Given the description of an element on the screen output the (x, y) to click on. 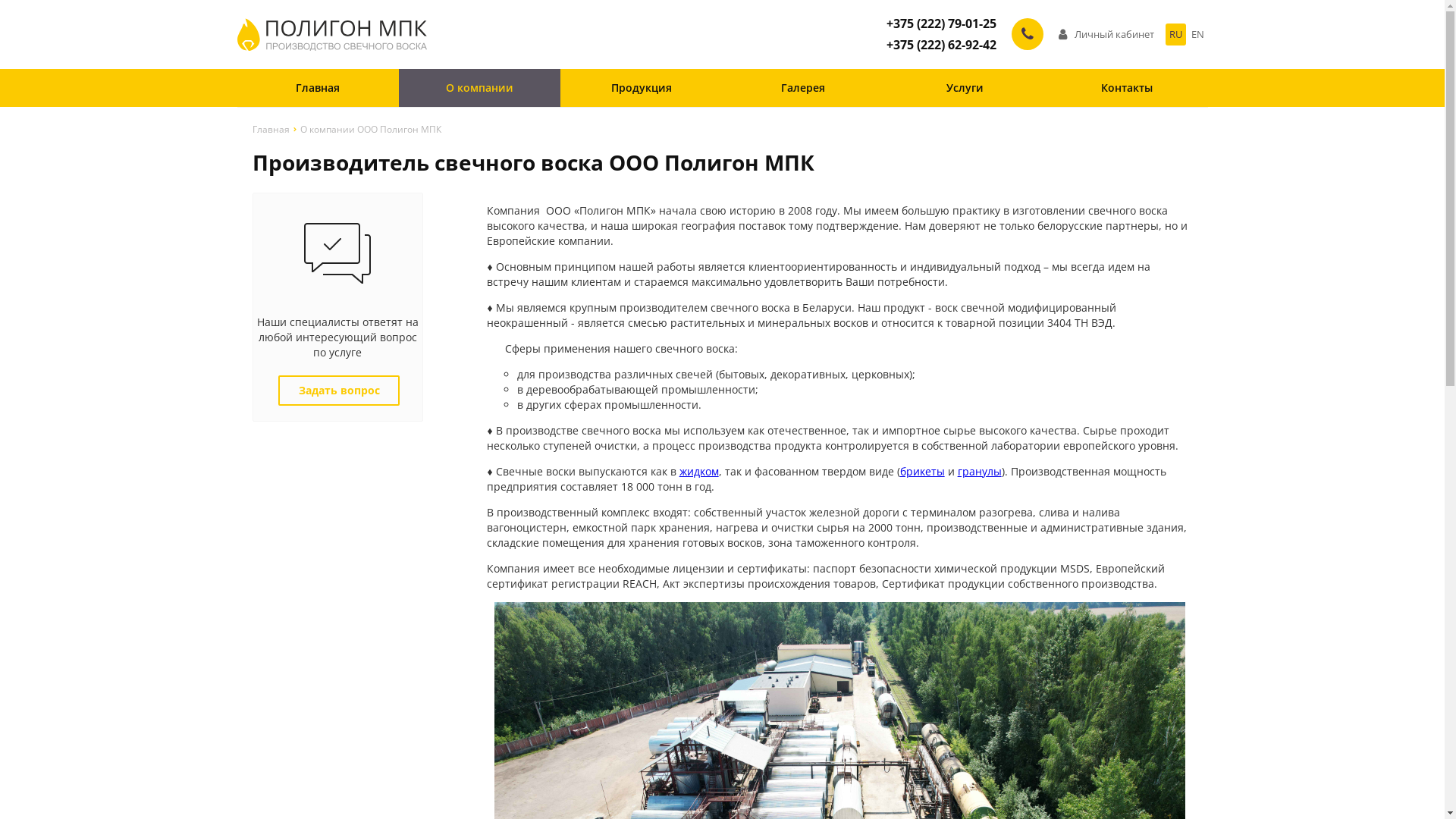
RU Element type: text (1174, 34)
+375 (222) 62-92-42 Element type: text (940, 44)
+375 (222) 79-01-25 Element type: text (940, 23)
EN Element type: text (1197, 34)
